Given the description of an element on the screen output the (x, y) to click on. 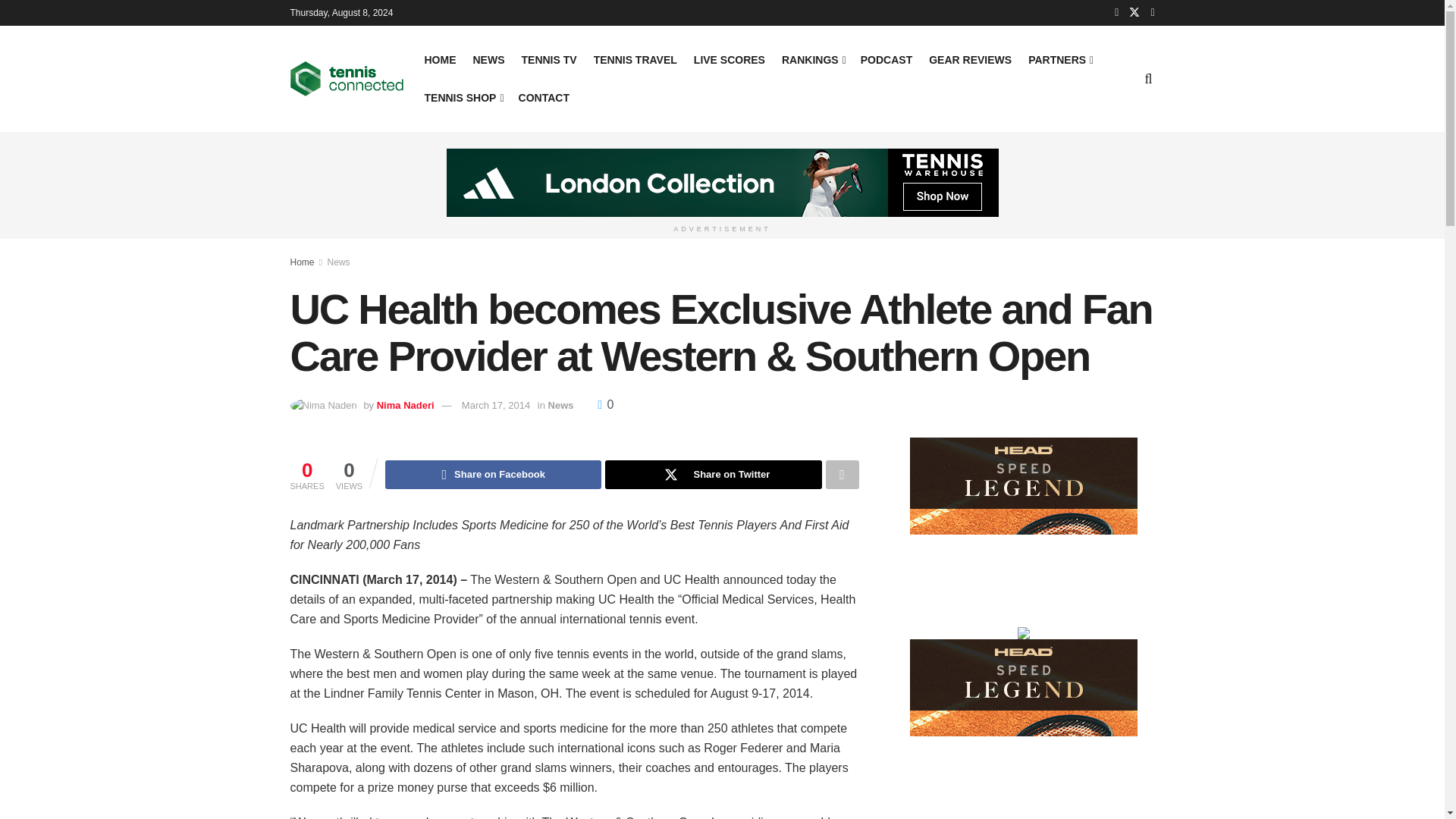
LIVE SCORES (729, 59)
TENNIS SHOP (463, 97)
TENNIS TV (548, 59)
TENNIS TRAVEL (635, 59)
CONTACT (543, 97)
PODCAST (886, 59)
NEWS (489, 59)
RANKINGS (812, 59)
HOME (441, 59)
PARTNERS (1058, 59)
